Given the description of an element on the screen output the (x, y) to click on. 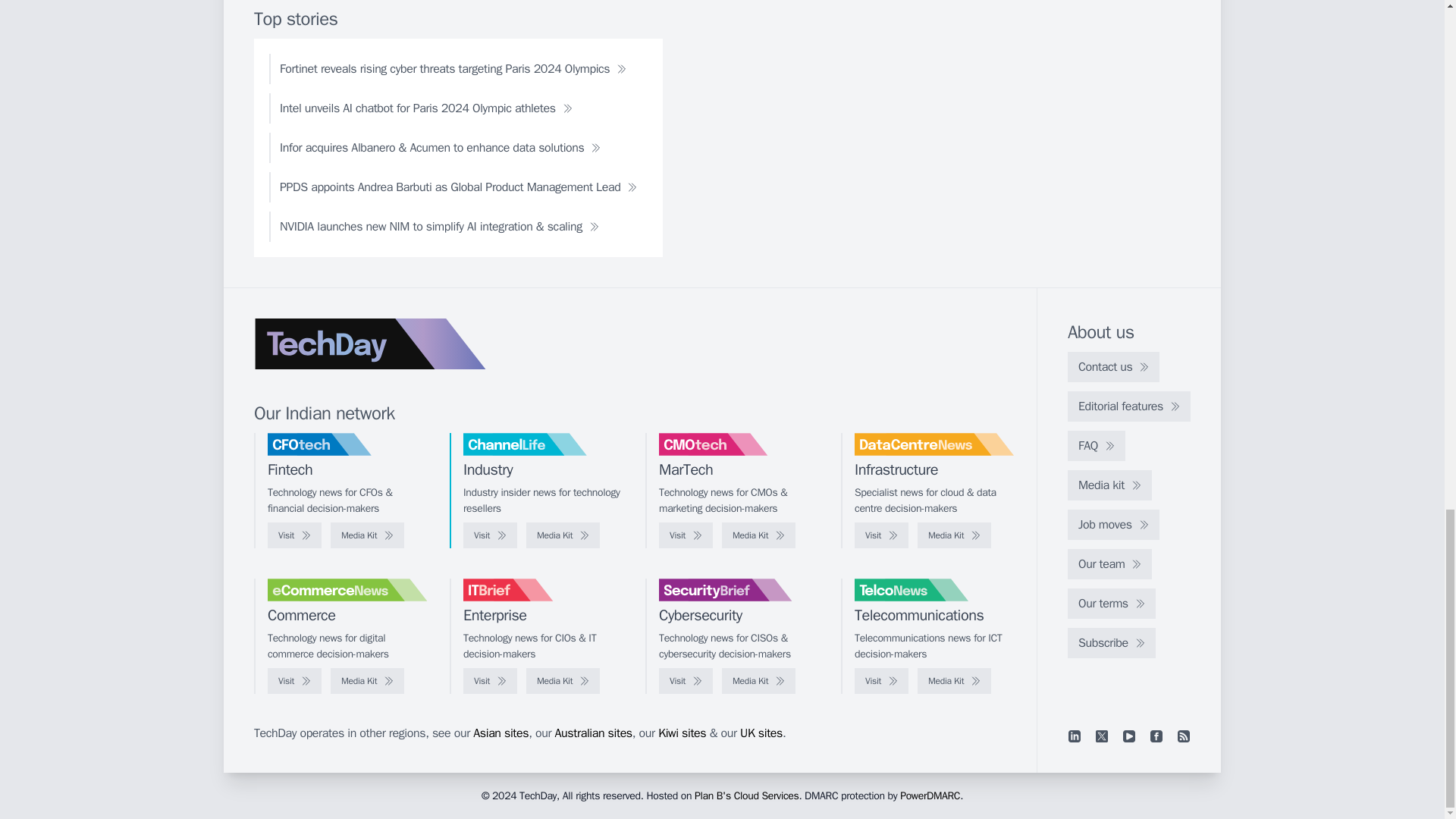
Visit (881, 534)
Media Kit (758, 534)
Media Kit (562, 534)
Media Kit (367, 534)
Visit (489, 534)
Intel unveils AI chatbot for Paris 2024 Olympic athletes (426, 108)
Media Kit (954, 534)
Visit (294, 534)
Visit (686, 534)
